Given the description of an element on the screen output the (x, y) to click on. 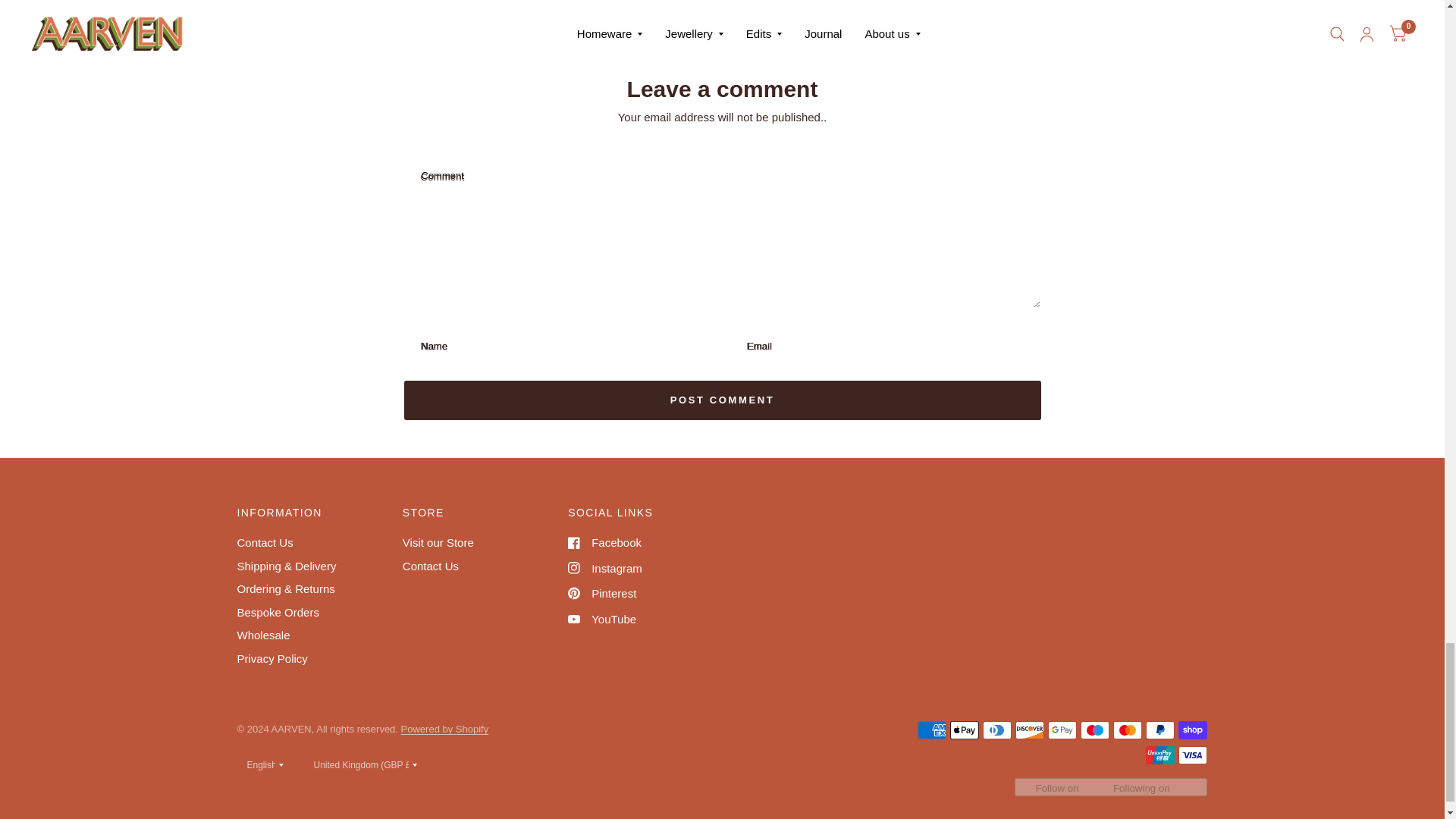
Post comment (722, 400)
